Given the description of an element on the screen output the (x, y) to click on. 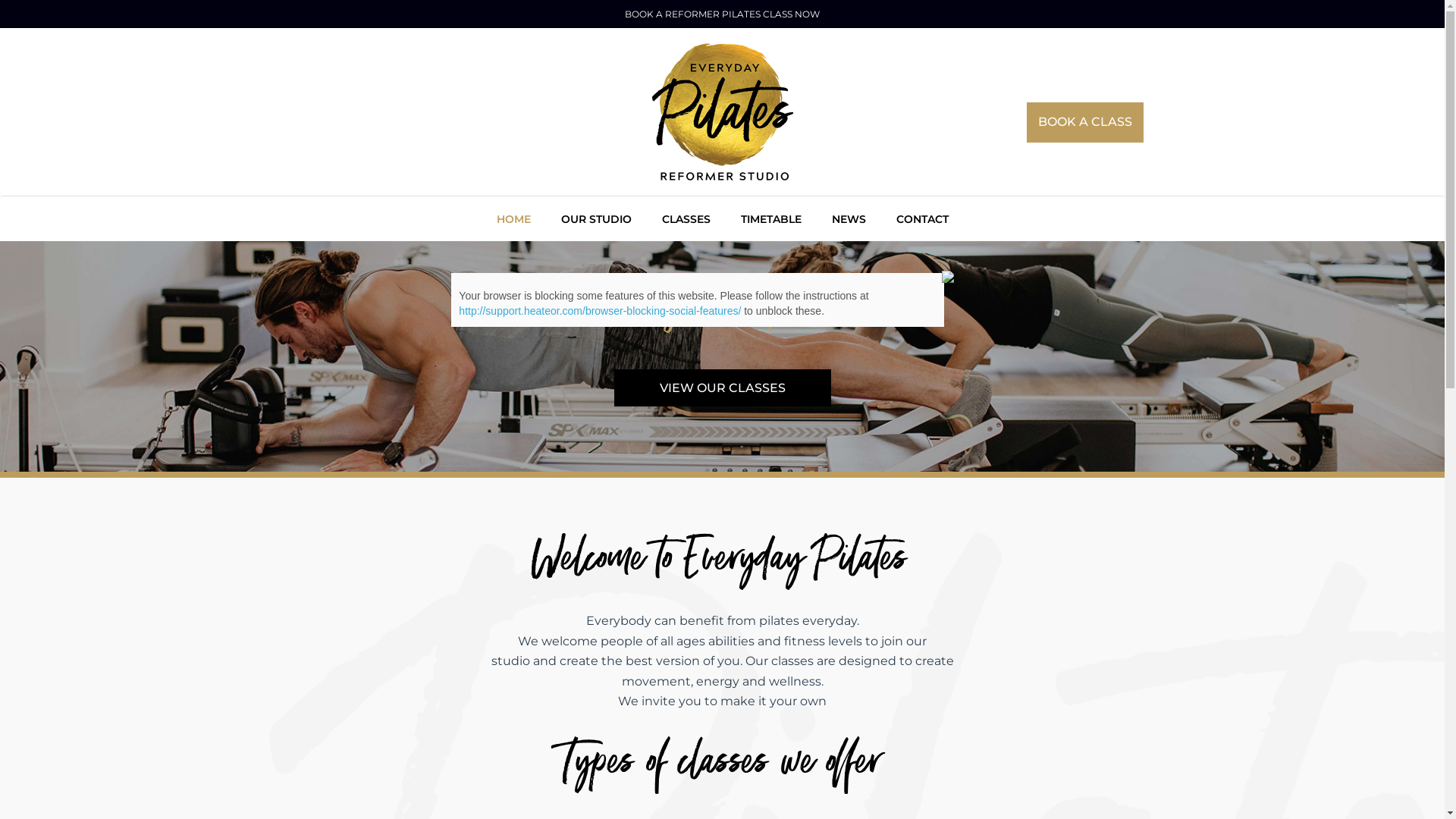
TIMETABLE Element type: text (770, 216)
BOOK A CLASS Element type: text (1084, 122)
http://support.heateor.com/browser-blocking-social-features/ Element type: text (599, 310)
CONTACT Element type: text (922, 216)
Everyday Pilates Reformer Studio Element type: hover (722, 111)
HOME Element type: text (512, 216)
BOOK A REFORMER PILATES CLASS NOW Element type: text (721, 13)
OUR STUDIO Element type: text (596, 216)
CLASSES Element type: text (685, 216)
NEWS Element type: text (848, 216)
VIEW OUR CLASSES Element type: text (722, 387)
